Given the description of an element on the screen output the (x, y) to click on. 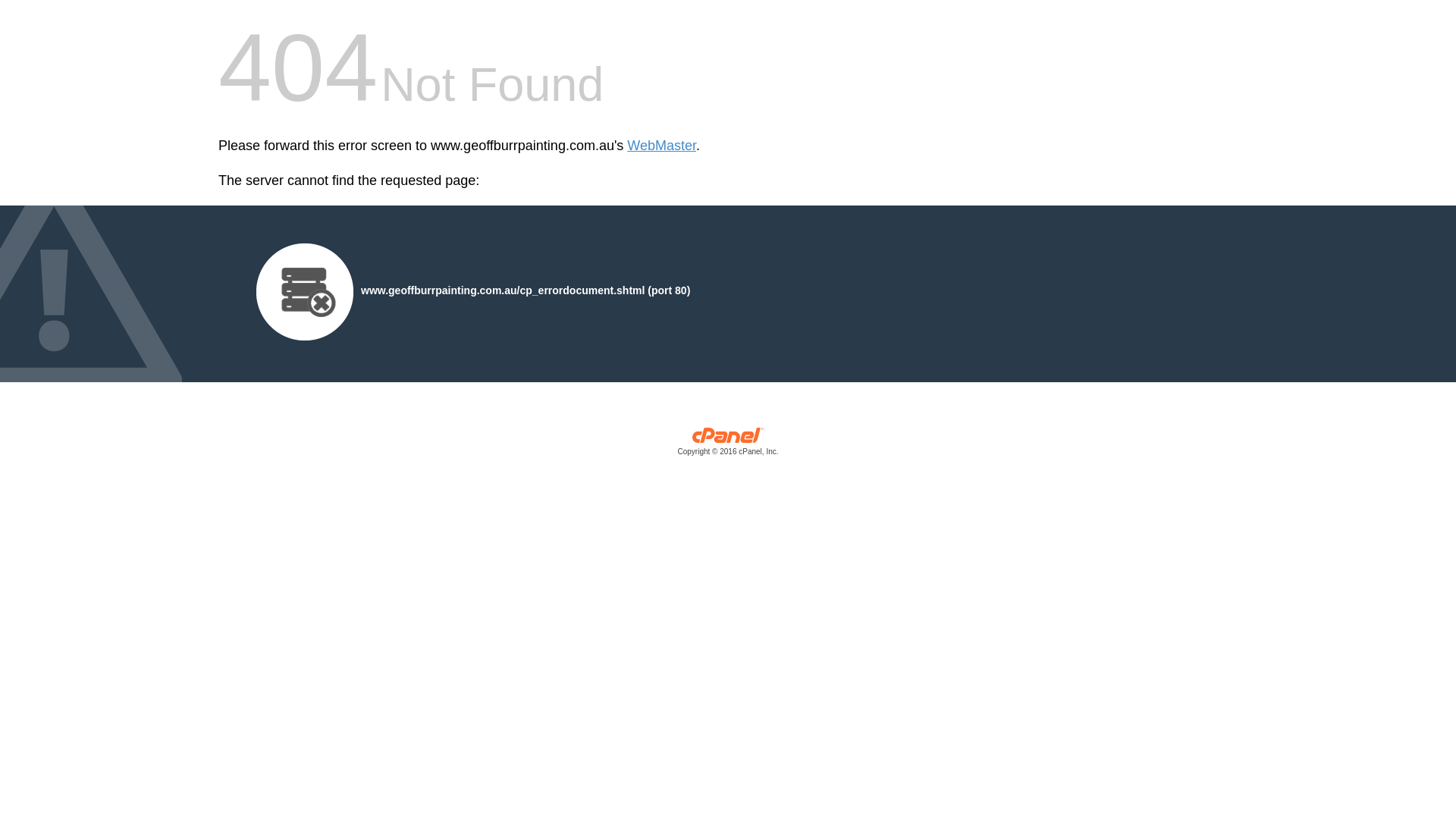
WebMaster Element type: text (661, 145)
